Given the description of an element on the screen output the (x, y) to click on. 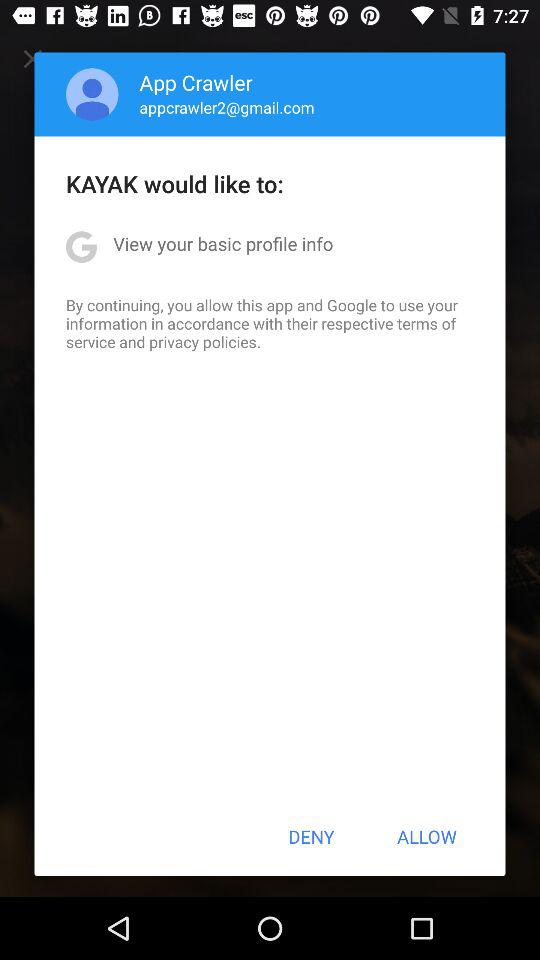
select the deny button (311, 836)
